Given the description of an element on the screen output the (x, y) to click on. 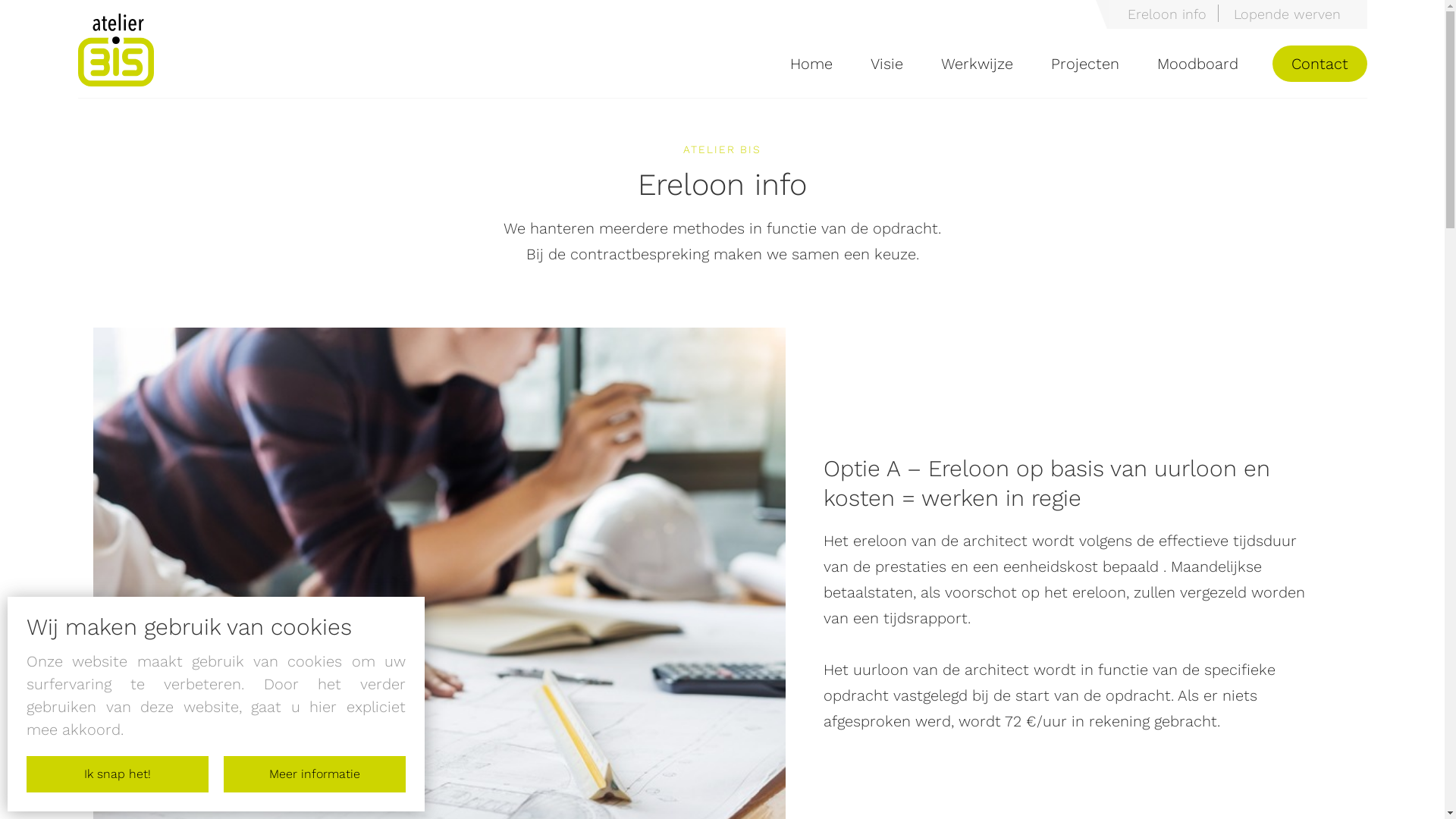
Ereloon info Element type: text (1167, 12)
Lopende werven Element type: text (1287, 12)
Ik snap het! Element type: text (117, 774)
Werkwijze Element type: text (976, 63)
Projecten Element type: text (1085, 63)
Visie Element type: text (886, 63)
Home Element type: text (811, 63)
Contact Element type: text (1319, 63)
Meer informatie Element type: text (314, 774)
Moodboard Element type: text (1197, 63)
